Given the description of an element on the screen output the (x, y) to click on. 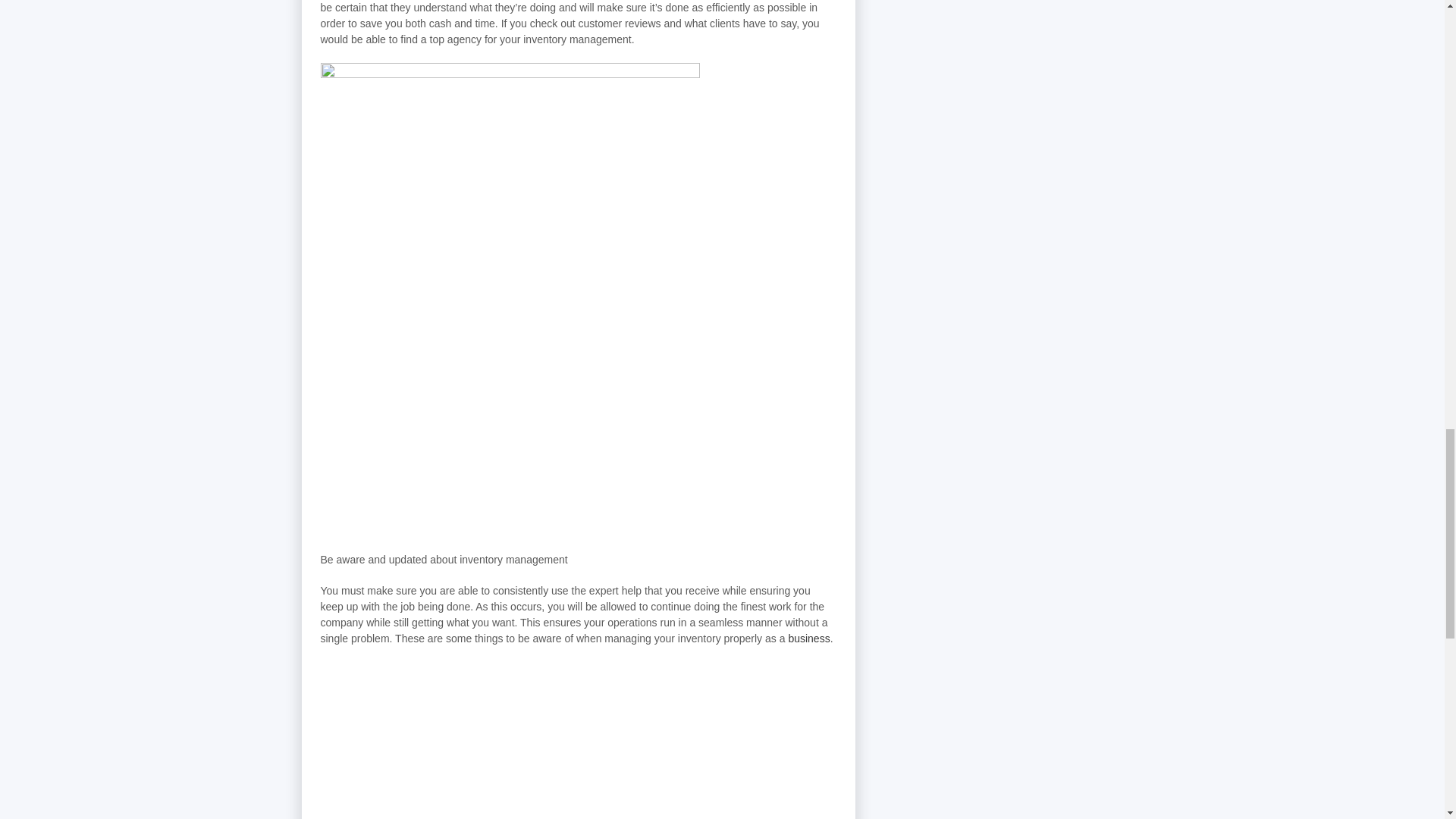
Business Success Powered by Inventory Management (577, 740)
business (808, 638)
